Given the description of an element on the screen output the (x, y) to click on. 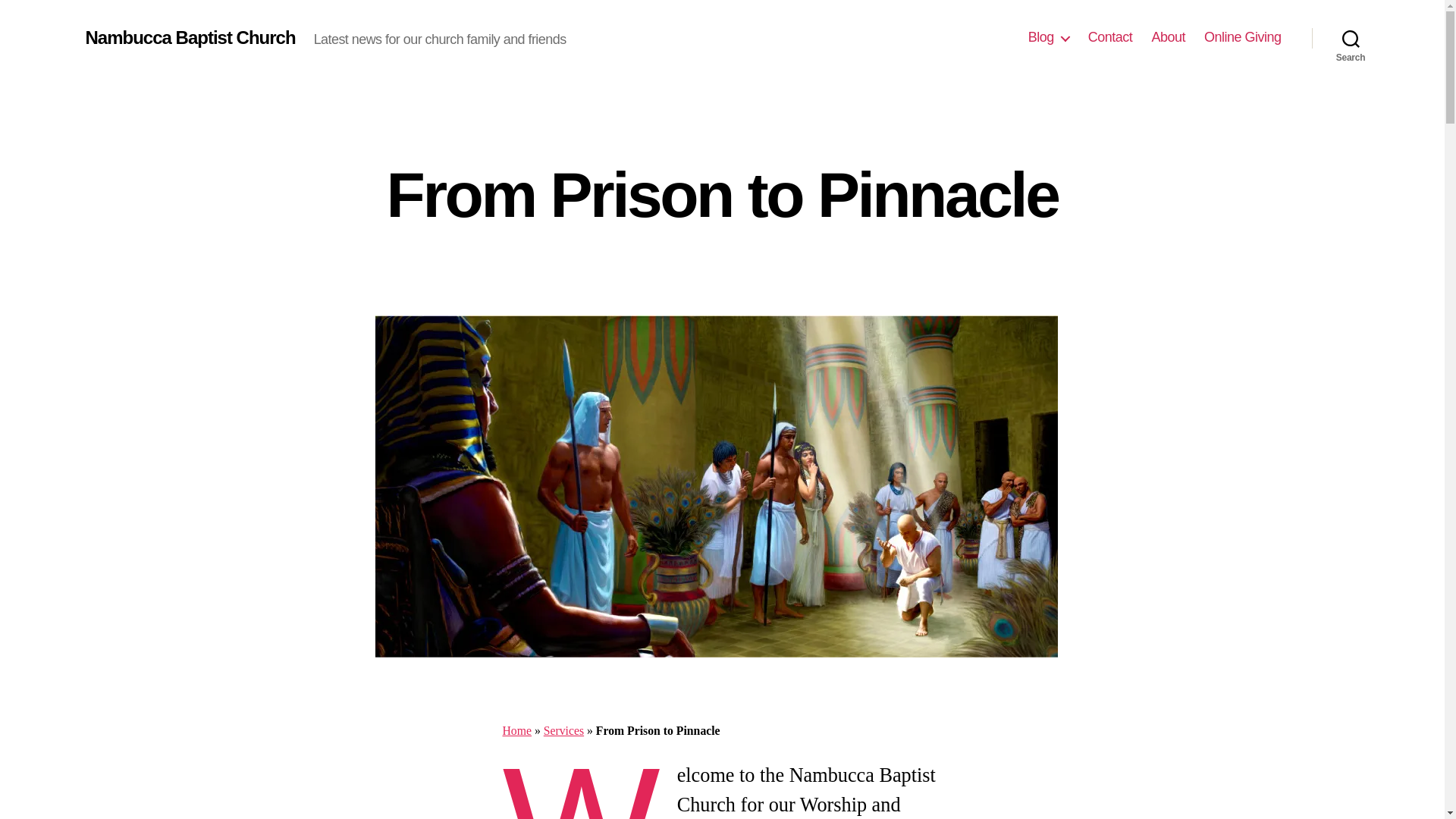
About (1168, 37)
Online Giving (1242, 37)
Blog (1047, 37)
Home (516, 730)
Services (563, 730)
Nambucca Baptist Church (189, 37)
Contact (1109, 37)
Search (1350, 37)
